Given the description of an element on the screen output the (x, y) to click on. 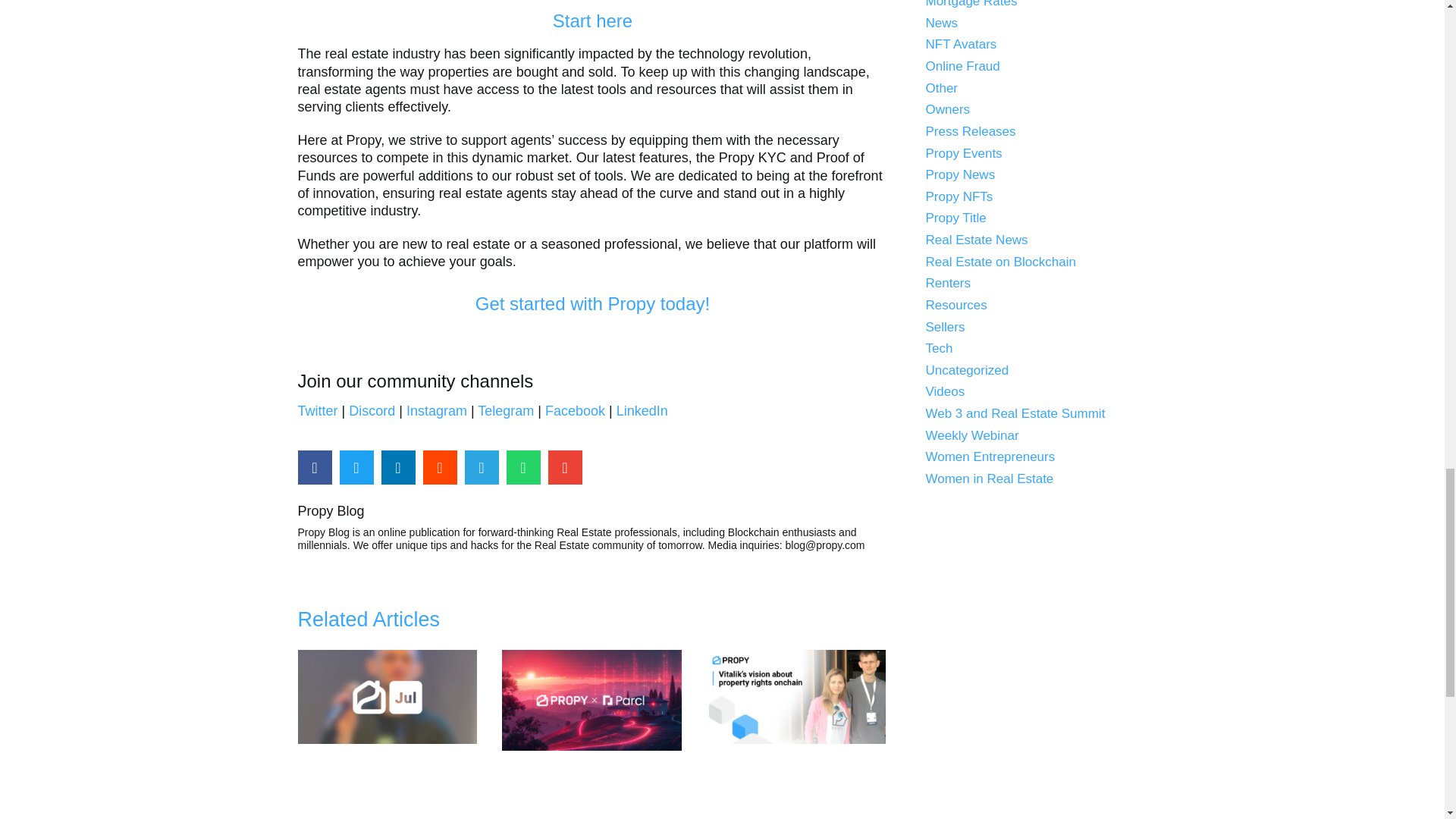
LinkedIn (641, 410)
Twitter (317, 410)
Facebook (574, 410)
Get started with Propy today! (593, 303)
Start here (592, 20)
Propy Blog (591, 510)
Telegram (505, 410)
Discord (371, 410)
Instagram (436, 410)
